Given the description of an element on the screen output the (x, y) to click on. 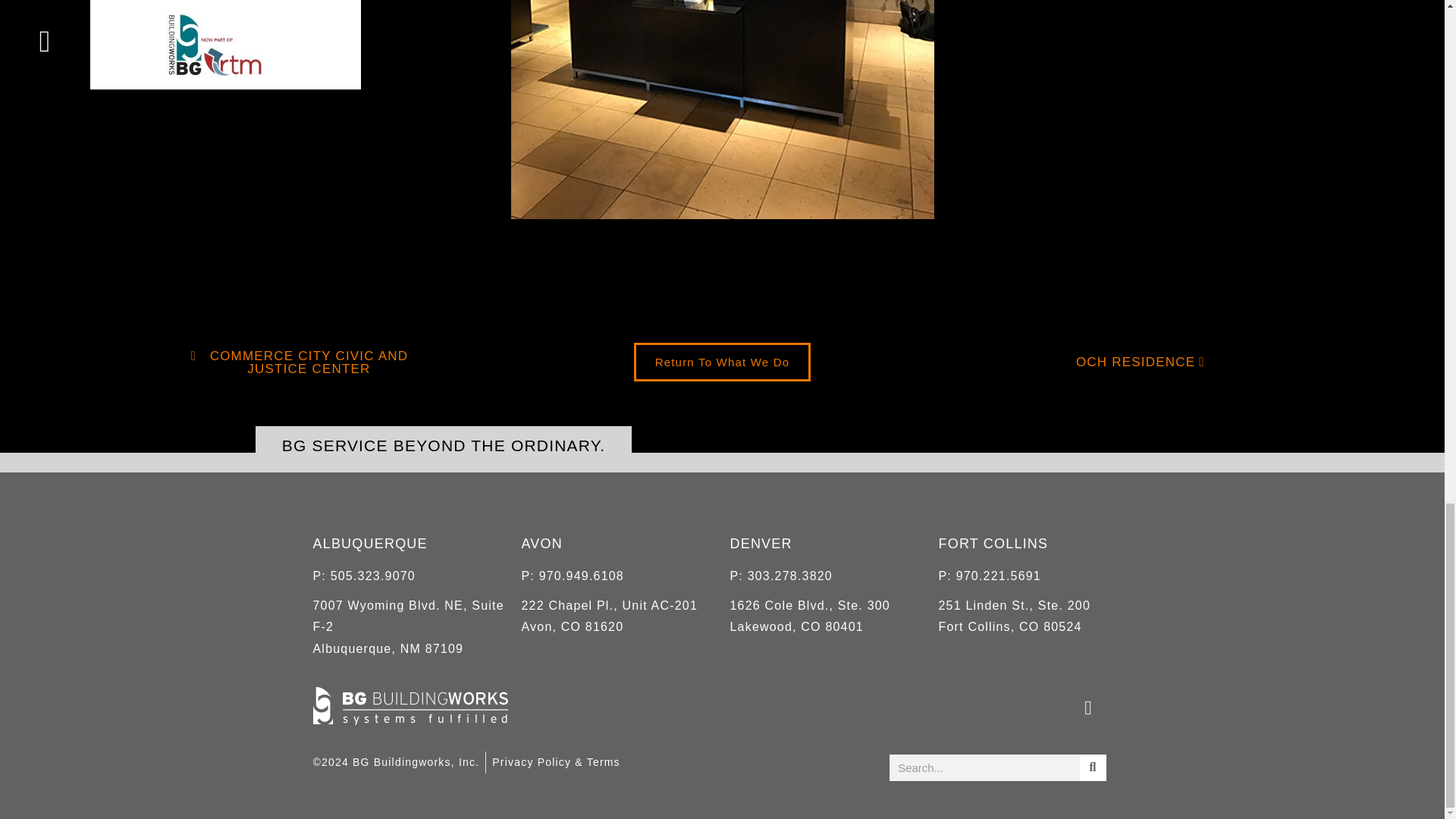
BG Buildingworks (409, 627)
P: 970.221.5691 (401, 761)
P: 505.323.9070 (1035, 576)
Return To What We Do (617, 617)
BG SERVICE BEYOND THE ORDINARY. (409, 576)
P: 970.949.6108 (1035, 617)
P: 303.278.3820 (721, 362)
COMMERCE CITY CIVIC AND JUSTICE CENTER (443, 445)
OCH RESIDENCE (826, 617)
